Given the description of an element on the screen output the (x, y) to click on. 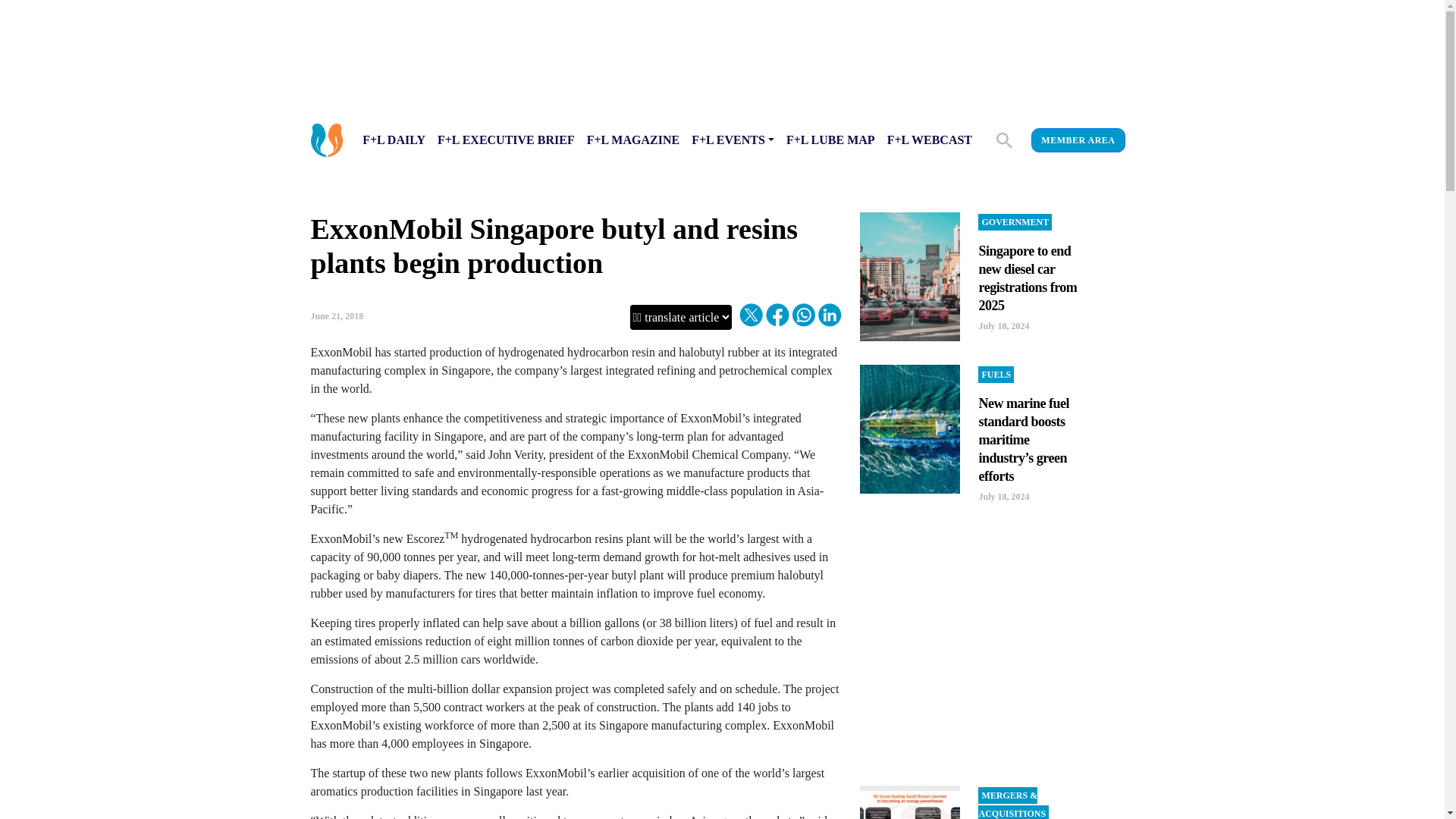
MEMBER AREA (1077, 139)
June 21, 2018 (337, 316)
